Given the description of an element on the screen output the (x, y) to click on. 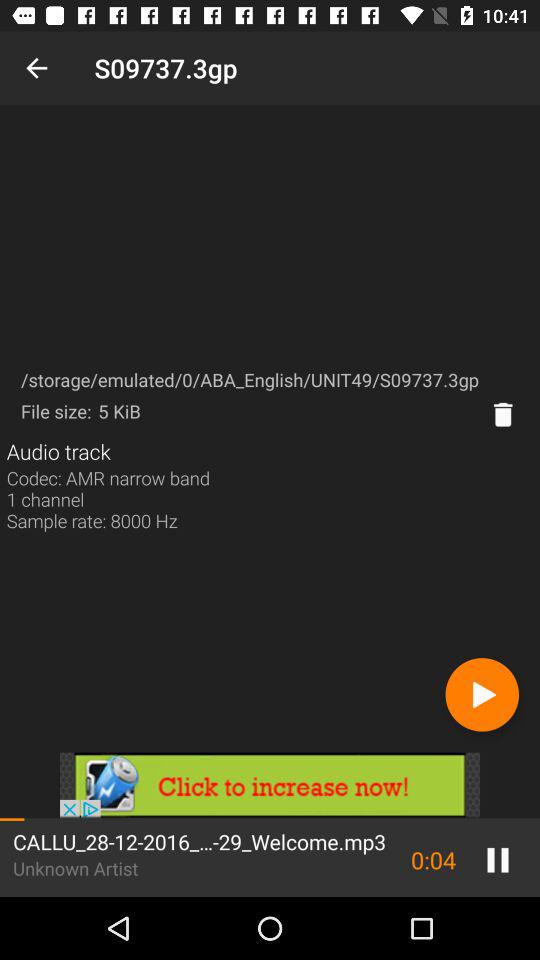
open advertisement (270, 785)
